Given the description of an element on the screen output the (x, y) to click on. 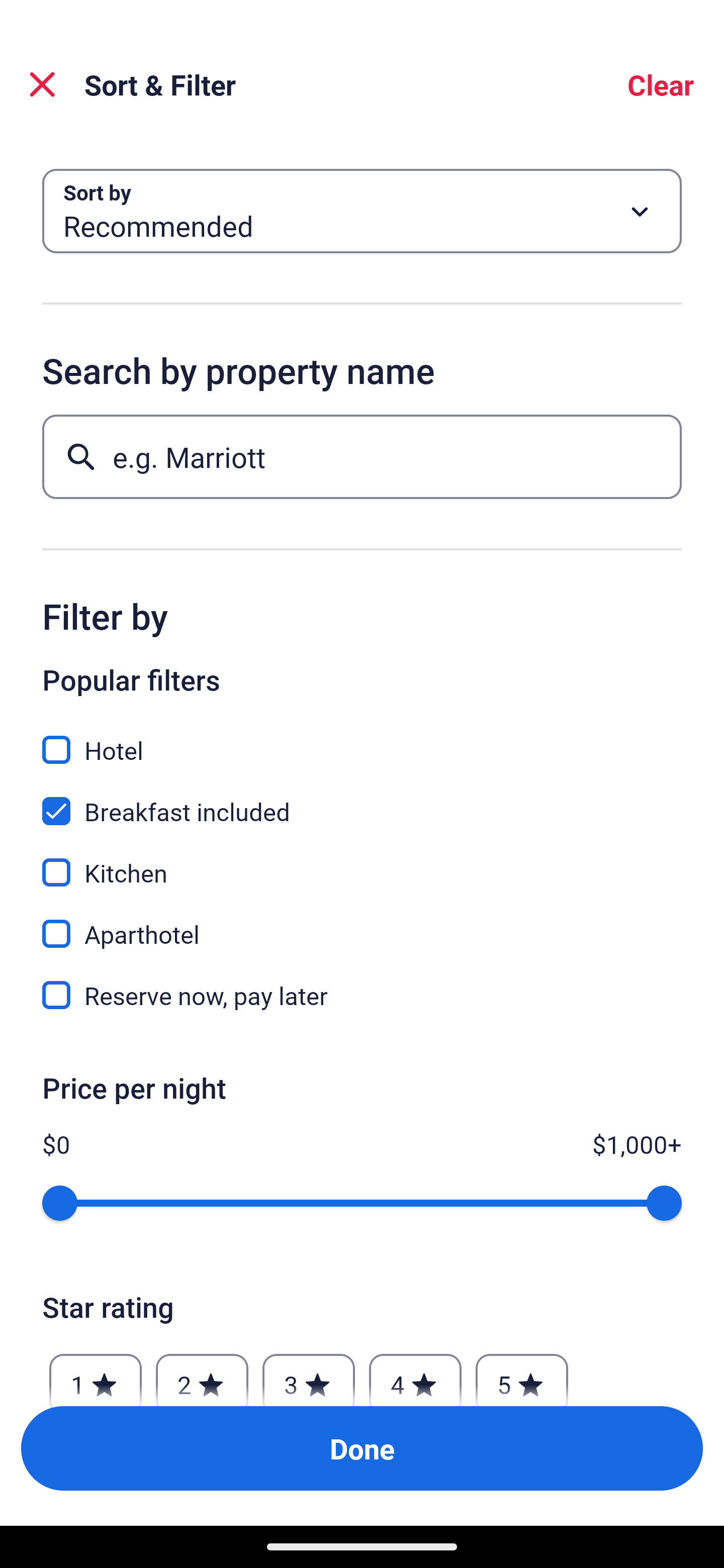
Close Sort and Filter (42, 84)
Clear (660, 84)
Sort by Button Recommended (361, 211)
e.g. Marriott Button (361, 455)
Hotel, Hotel (361, 738)
Breakfast included, Breakfast included (361, 800)
Kitchen, Kitchen (361, 861)
Aparthotel, Aparthotel (361, 922)
Reserve now, pay later, Reserve now, pay later (361, 995)
1 (95, 1374)
2 (201, 1374)
3 (308, 1374)
4 (415, 1374)
5 (521, 1374)
Apply and close Sort and Filter Done (361, 1448)
